Given the description of an element on the screen output the (x, y) to click on. 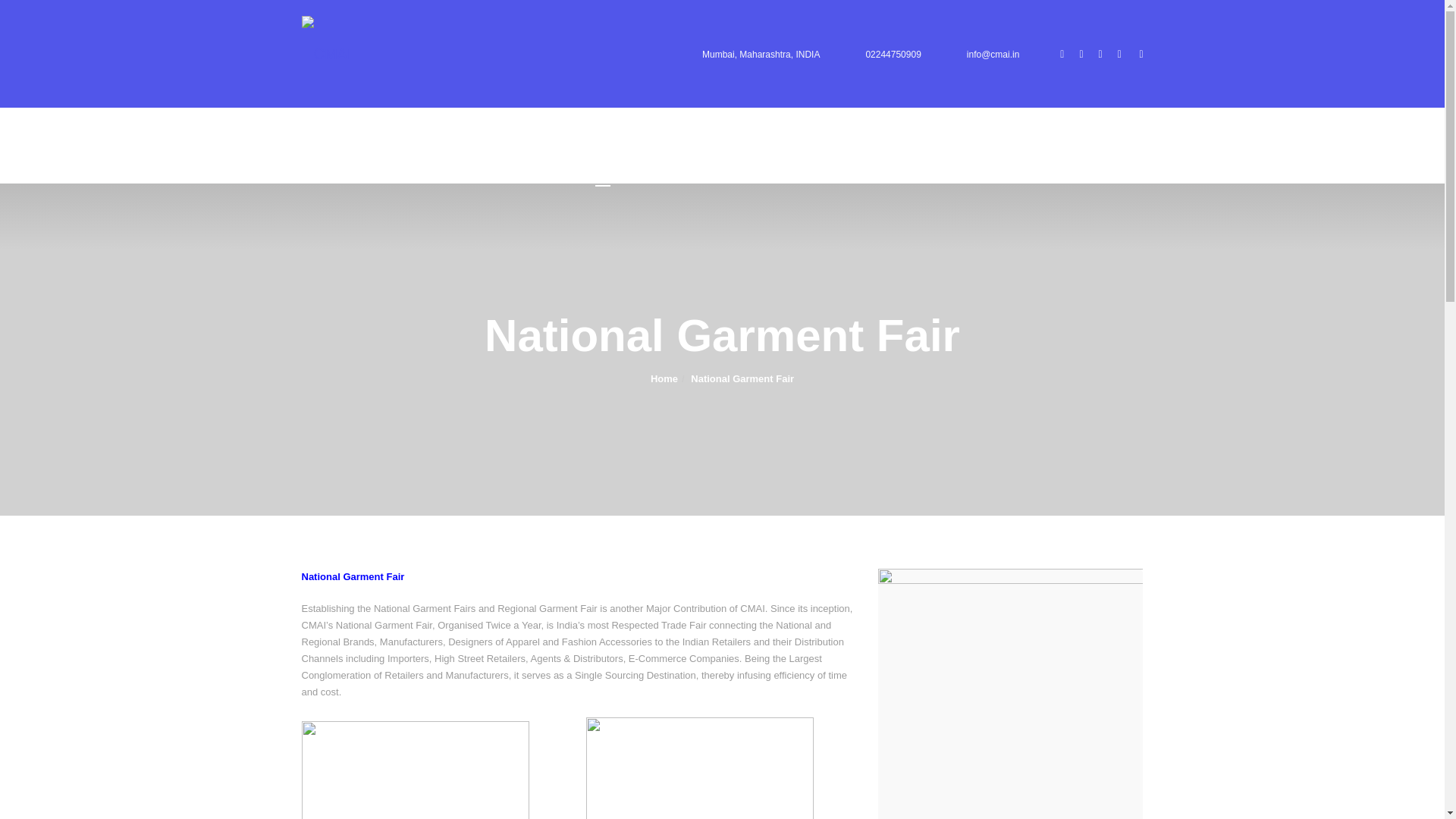
Circulars (827, 145)
SU.RE (767, 145)
02244750909 (892, 53)
Membership (542, 145)
Trade Shows (626, 145)
More (942, 145)
Home (477, 145)
Apparel (888, 145)
Arbitration (704, 145)
